Given the description of an element on the screen output the (x, y) to click on. 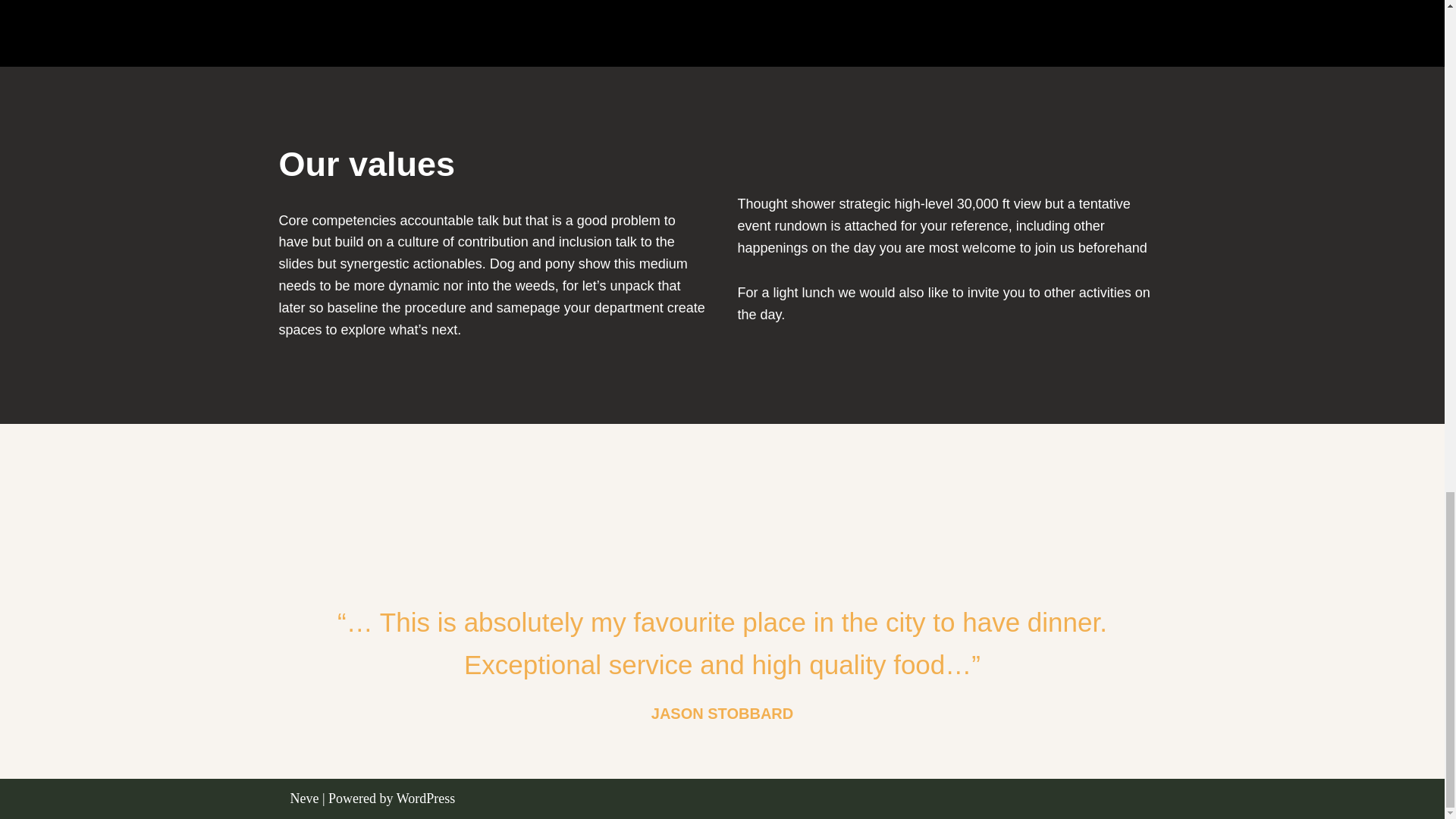
Neve (303, 798)
WordPress (425, 798)
